Given the description of an element on the screen output the (x, y) to click on. 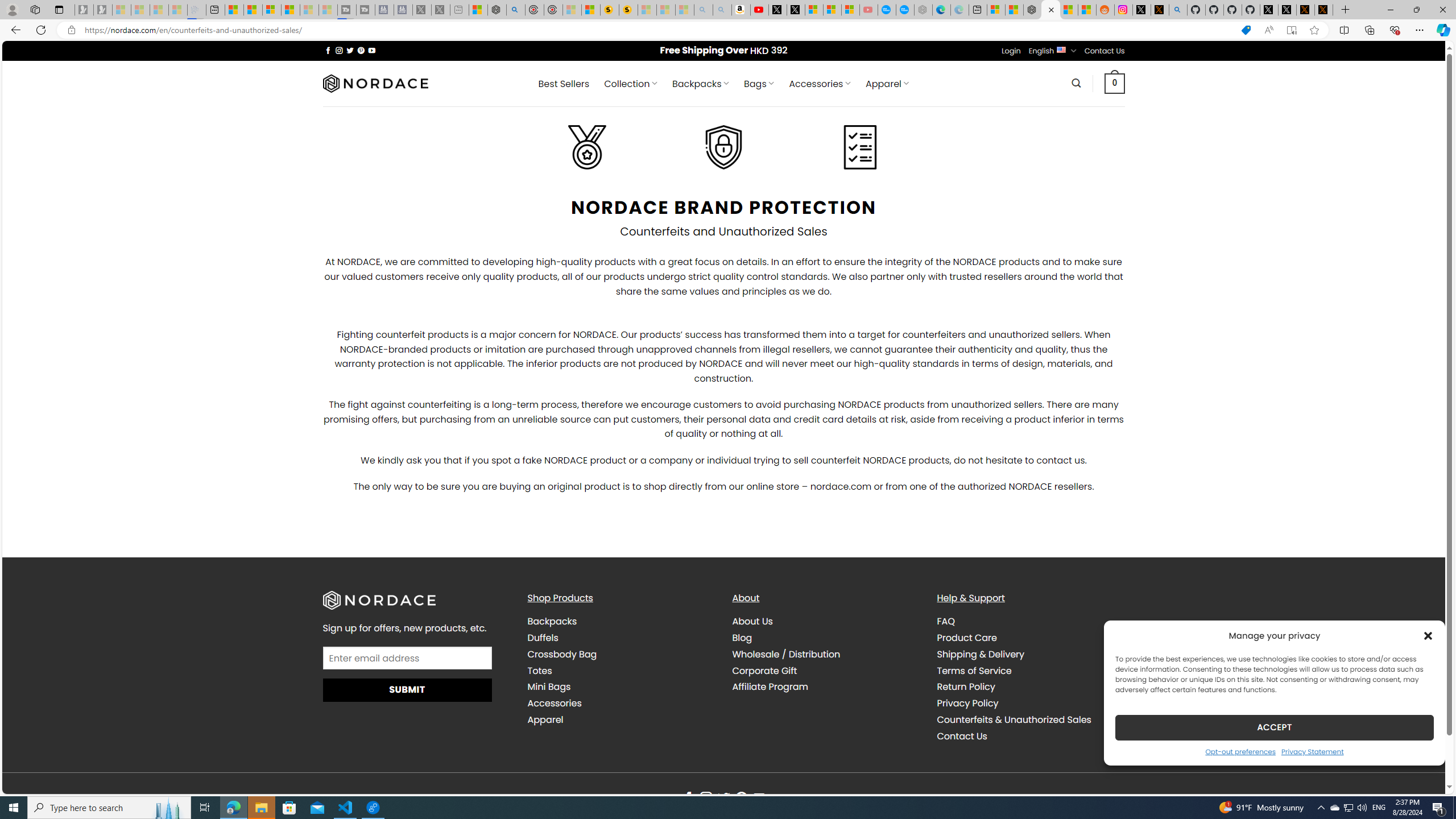
Privacy Policy (967, 703)
X Privacy Policy (1324, 9)
New tab - Sleeping (459, 9)
GitHub (@github) / X (1287, 9)
Wildlife - MSN (478, 9)
Return Policy (1030, 686)
ACCEPT (1274, 727)
Counterfeits & Unauthorized Sales (1030, 719)
Follow on Instagram (705, 798)
Totes (620, 670)
